Given the description of an element on the screen output the (x, y) to click on. 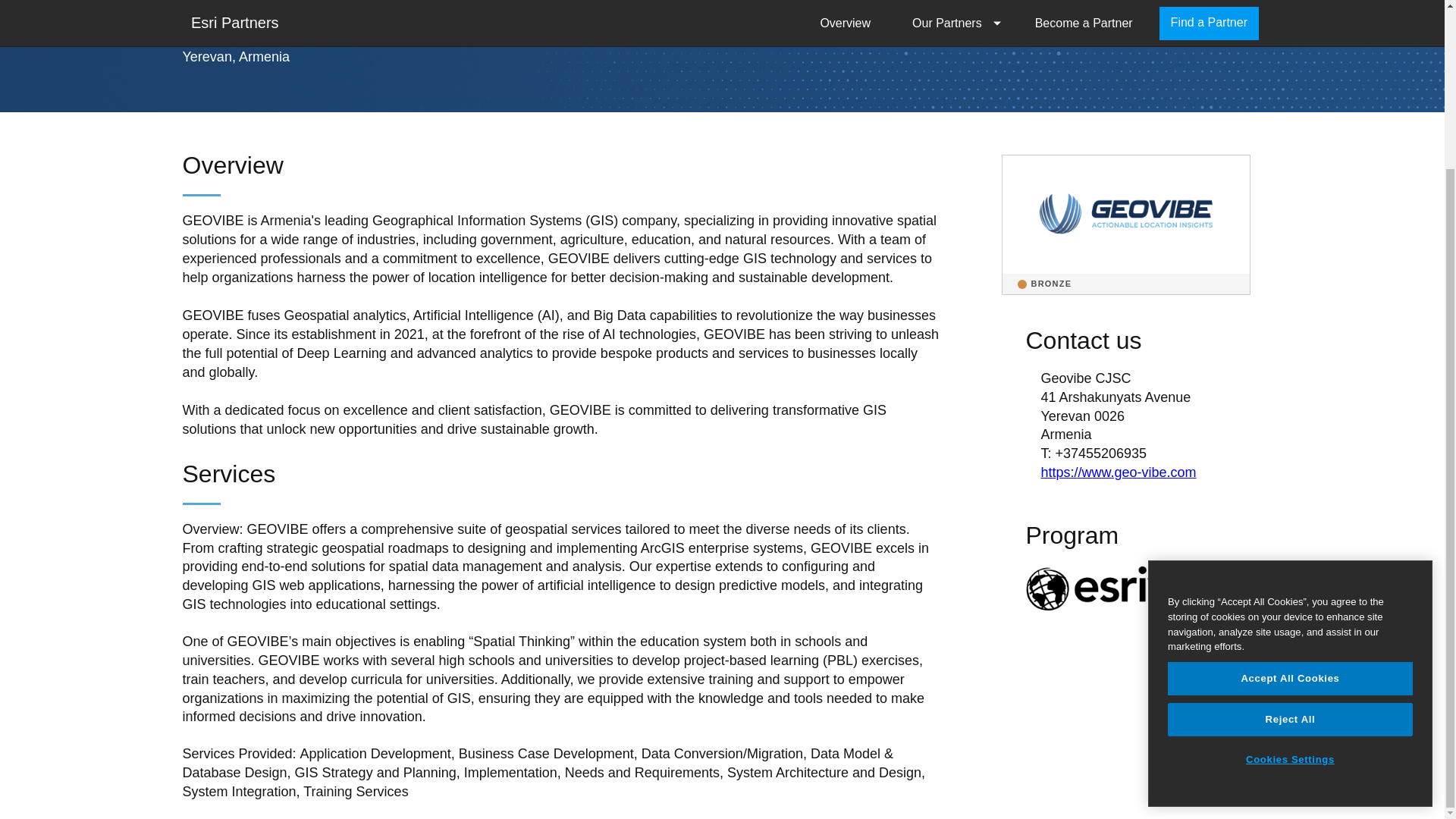
Cookies Settings (1289, 558)
Accept All Cookies (1289, 476)
Reject All (1289, 517)
